Given the description of an element on the screen output the (x, y) to click on. 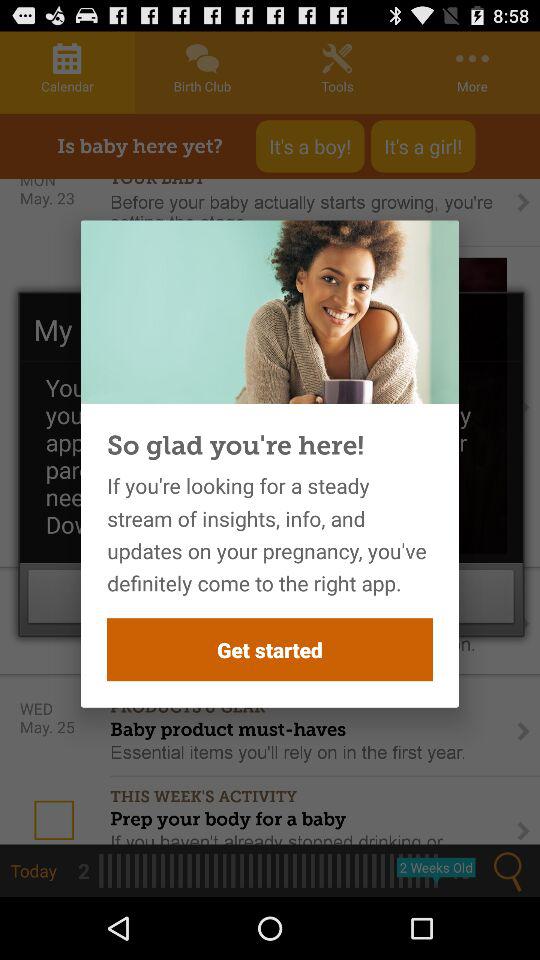
turn off the get started item (269, 649)
